Given the description of an element on the screen output the (x, y) to click on. 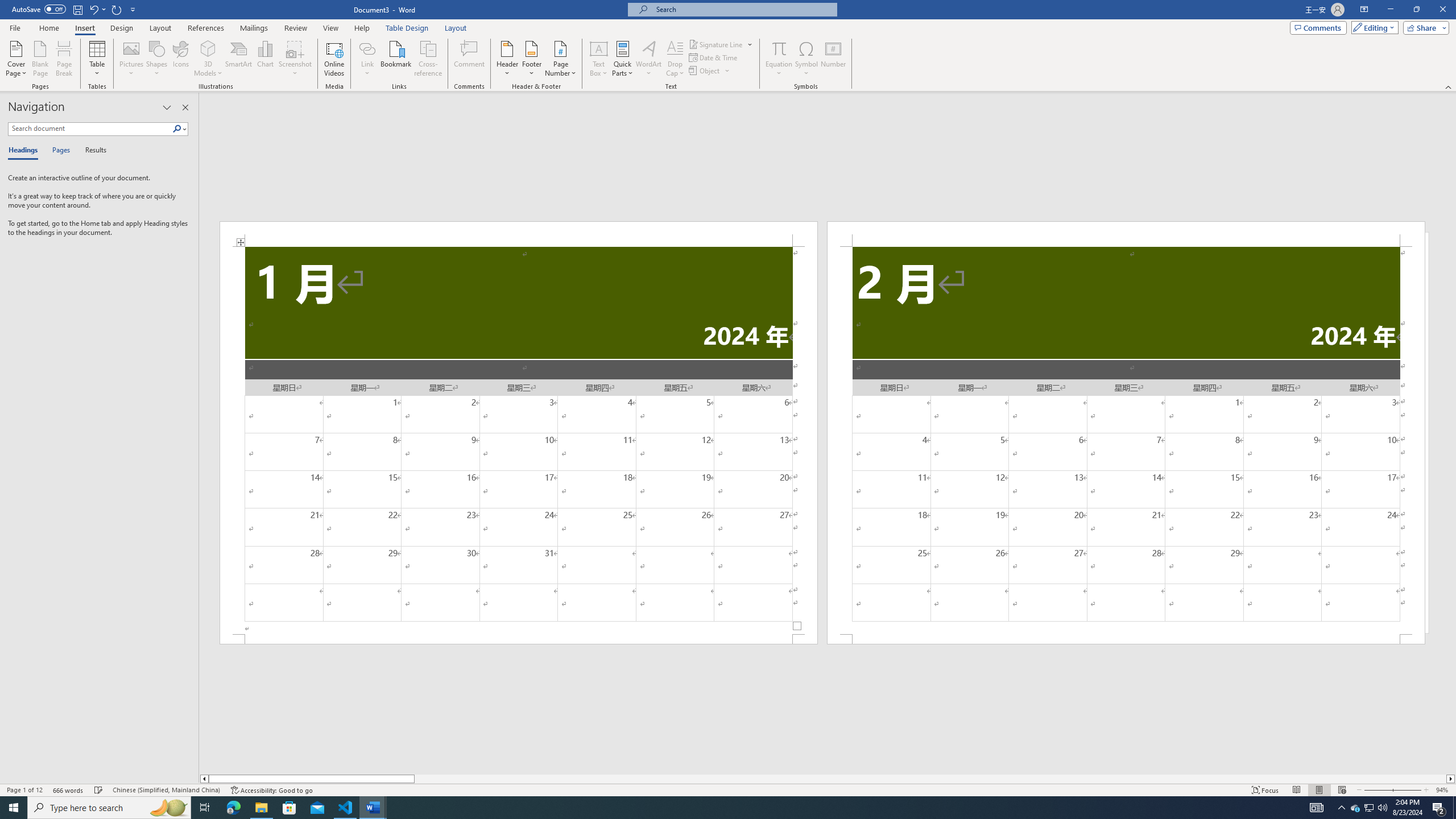
Results (91, 150)
Accessibility Checker Accessibility: Good to go (271, 790)
Column left (203, 778)
Share (1423, 27)
Blank Page (40, 58)
Zoom In (1407, 790)
Cover Page (16, 58)
Cross-reference... (428, 58)
SmartArt... (238, 58)
Microsoft search (742, 9)
Spelling and Grammar Check Checking (98, 790)
Collapse the Ribbon (1448, 86)
Header -Section 1- (518, 233)
Close pane (185, 107)
